Given the description of an element on the screen output the (x, y) to click on. 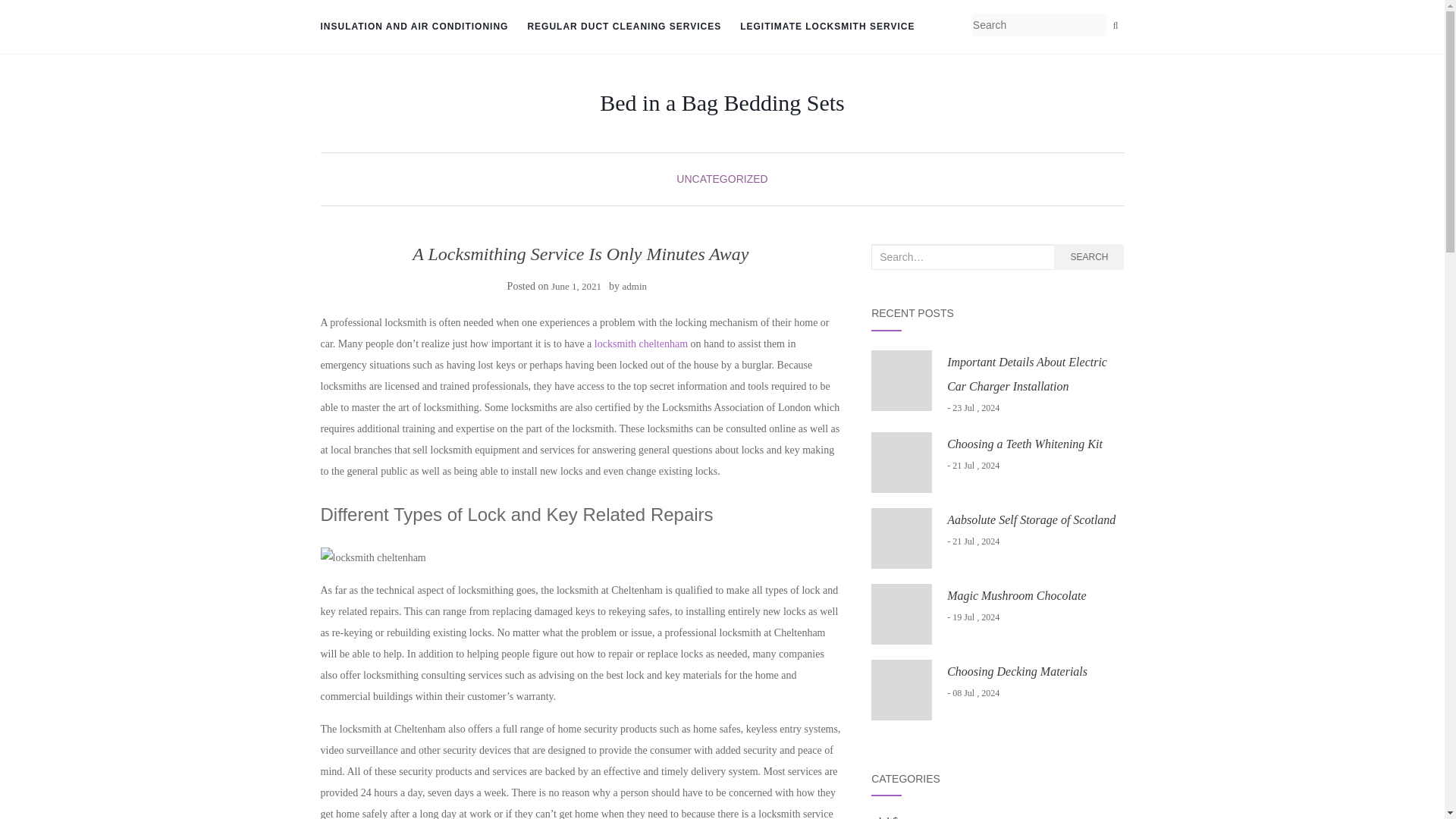
Important Details About Electric Car Charger Installation (1026, 374)
Magic Mushroom Chocolate (1016, 594)
INSULATION AND AIR CONDITIONING (414, 27)
Search for: (962, 257)
REGULAR DUCT CLEANING SERVICES (623, 27)
Choosing a Teeth Whitening Kit (1024, 443)
Bed in a Bag Bedding Sets (721, 102)
Choosing Decking Materials (1017, 671)
June 1, 2021 (576, 285)
SEARCH (1089, 257)
